Given the description of an element on the screen output the (x, y) to click on. 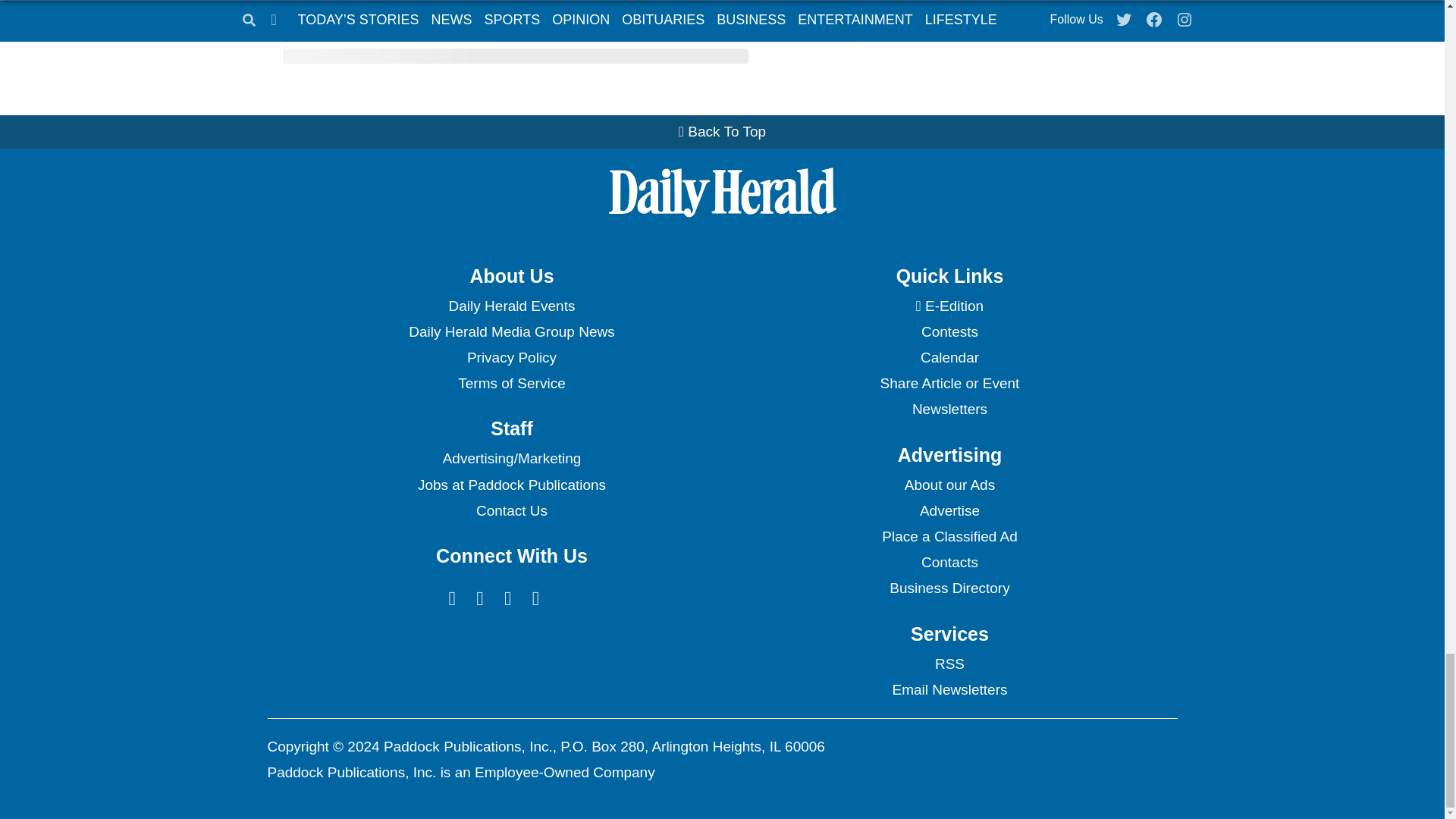
Contact Us (511, 510)
Contests (949, 331)
Privacy Policy (511, 357)
Daily Herald Digital Newspaper (949, 306)
Terms of Service (511, 383)
Daily Herald Events (511, 306)
Jobs at Paddock Publications (511, 484)
Daily Herald Media Group News (511, 331)
